Given the description of an element on the screen output the (x, y) to click on. 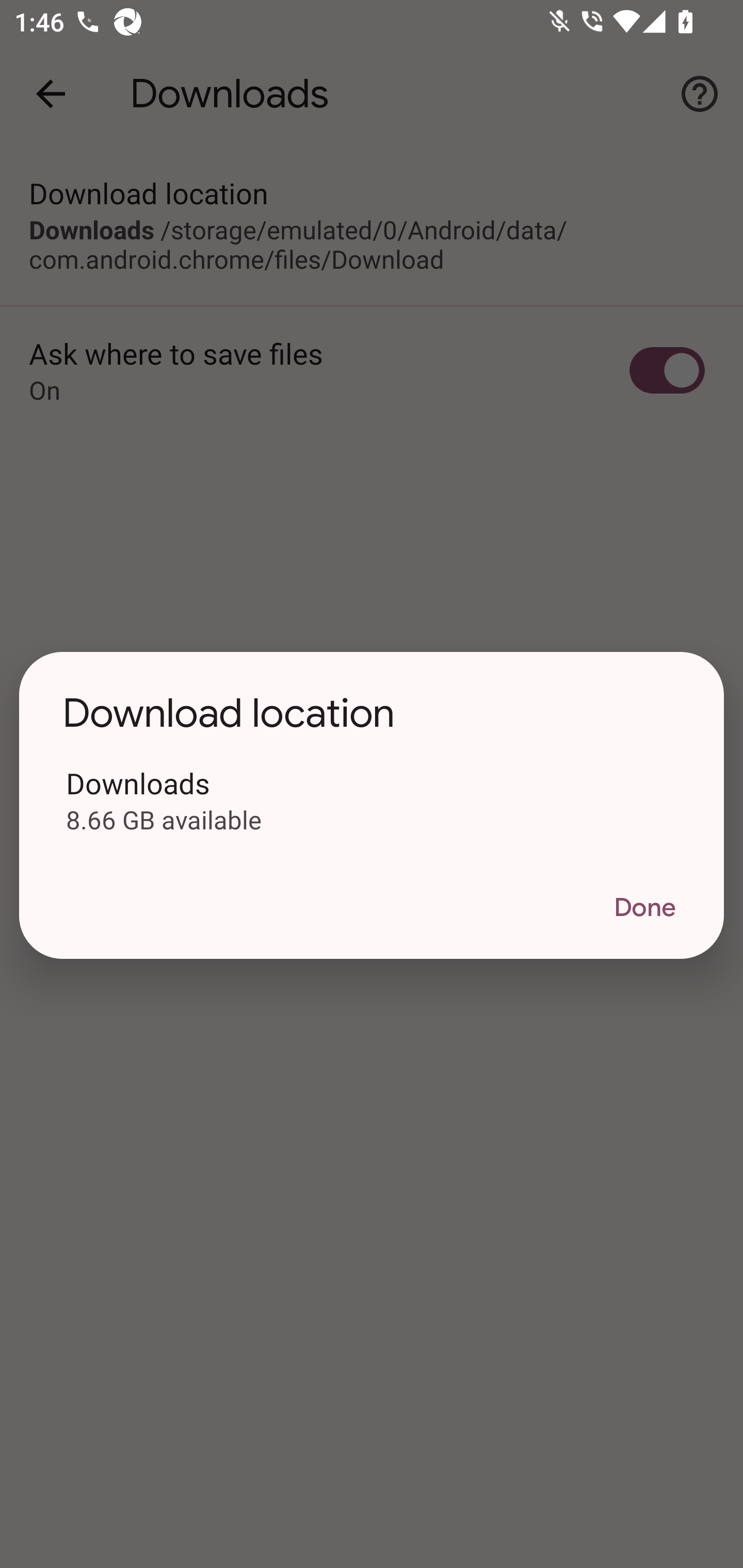
Downloads 8.66 GB available (371, 799)
Done (644, 908)
